Given the description of an element on the screen output the (x, y) to click on. 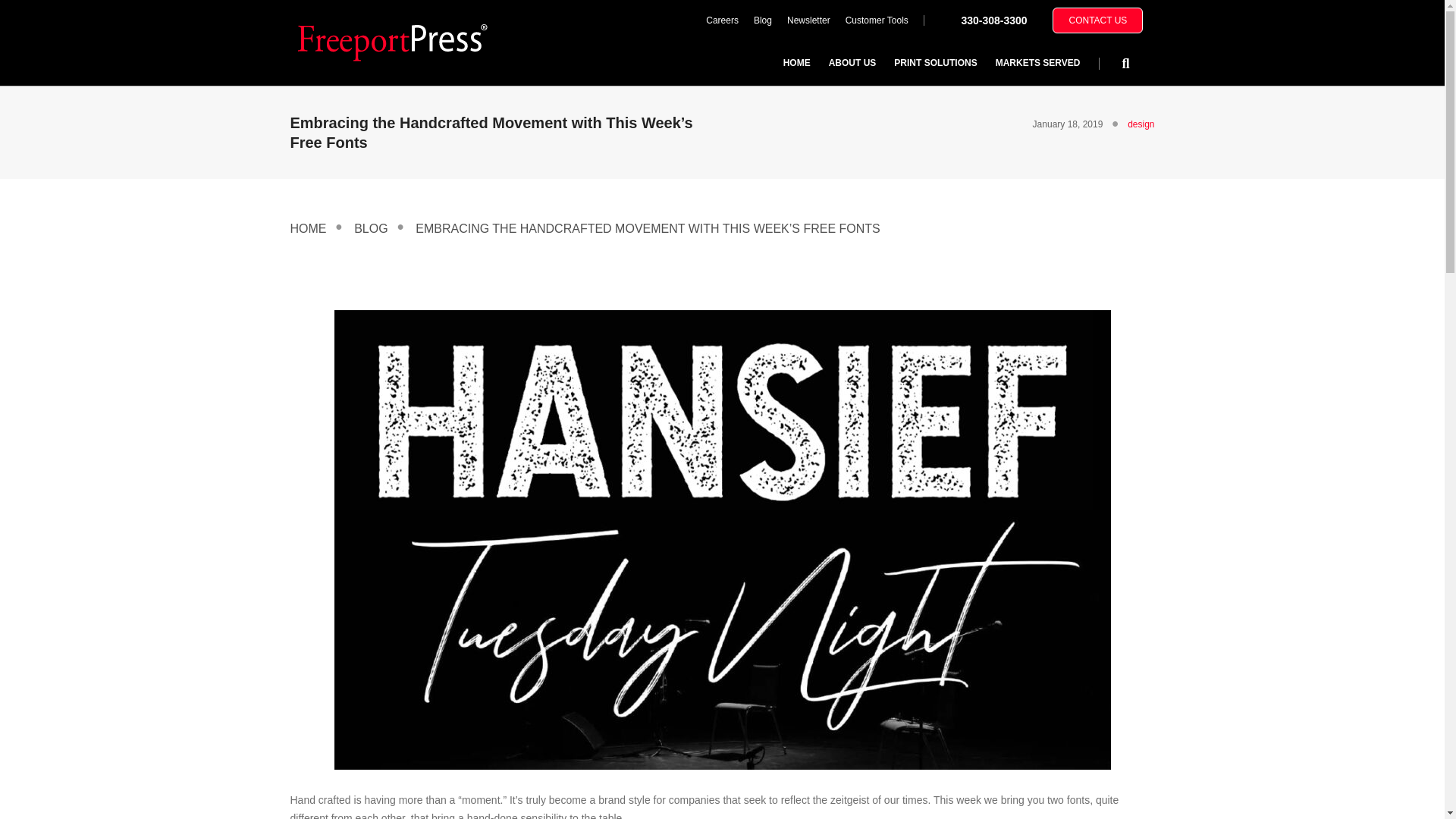
Newsletter (808, 20)
CONTACT US (1097, 20)
Blog (761, 20)
MARKETS SERVED (1038, 62)
Careers (721, 20)
Customer Tools (876, 20)
HOME (796, 62)
330-308-3300 (993, 20)
ABOUT US (852, 62)
PRINT SOLUTIONS (935, 62)
